Given the description of an element on the screen output the (x, y) to click on. 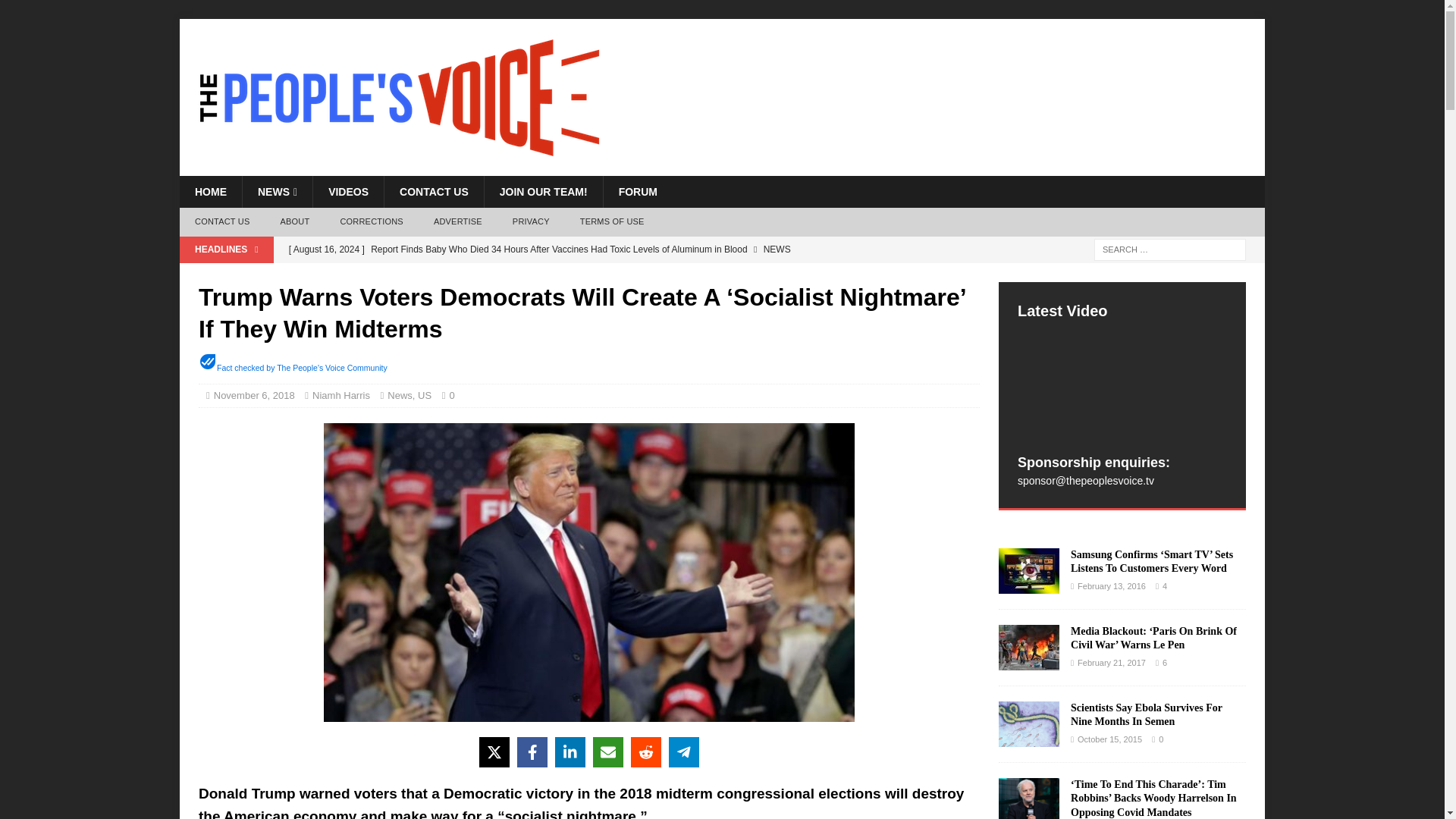
TERMS OF USE (611, 222)
PRIVACY (530, 222)
FORUM (637, 192)
ABOUT (294, 222)
NEWS (277, 192)
CONTACT US (433, 192)
HOME (210, 192)
CORRECTIONS (370, 222)
